Given the description of an element on the screen output the (x, y) to click on. 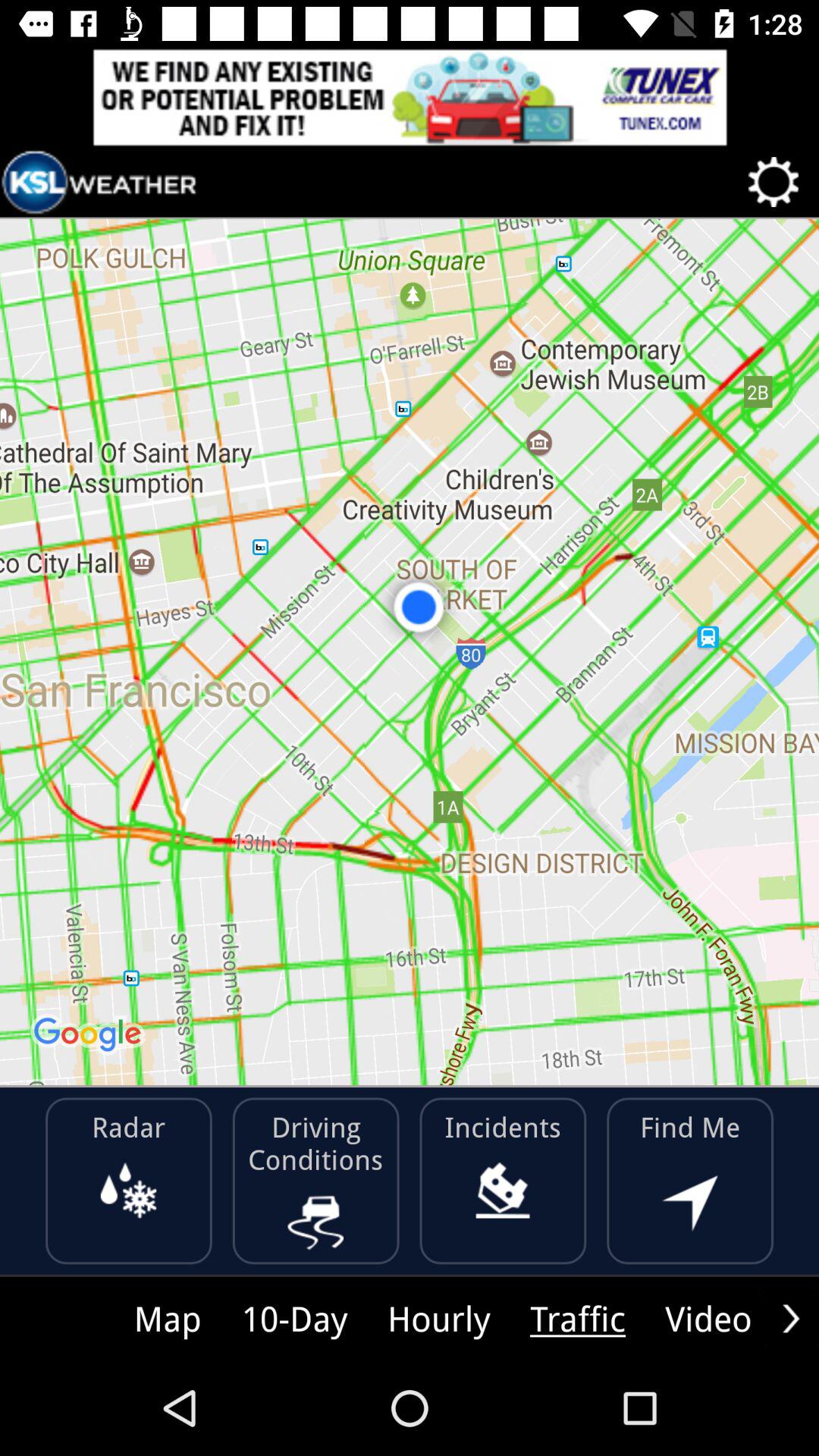
view the rest of the options (791, 1318)
